Given the description of an element on the screen output the (x, y) to click on. 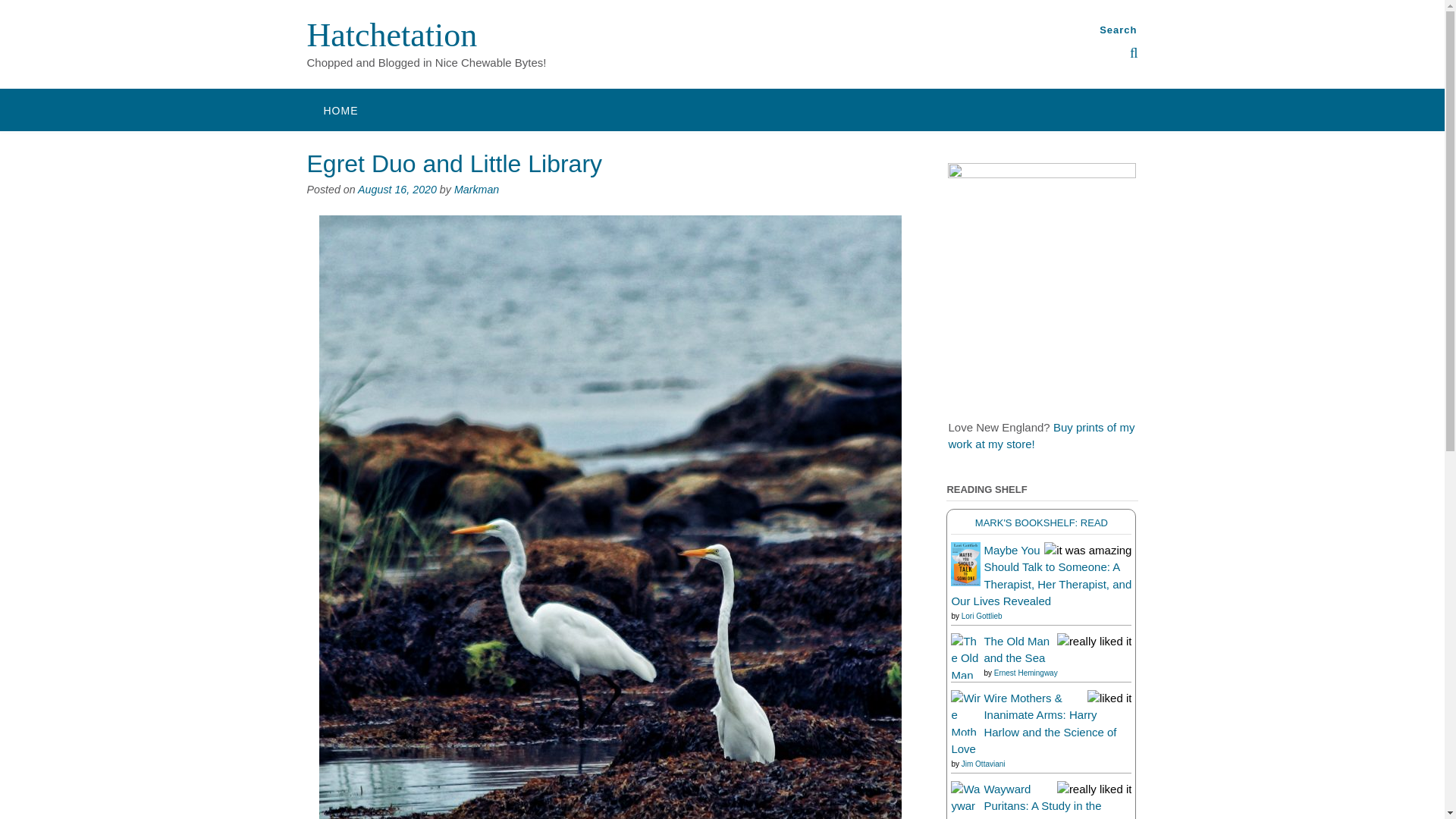
Wayward Puritans: A Study in the Sociology of Deviance (1042, 800)
The Old Man and the Sea (1016, 648)
MARK'S BOOKSHELF: READ (1041, 522)
really liked it (1094, 788)
liked it (1109, 697)
The Old Man and the Sea (964, 725)
Ernest Hemingway (1026, 673)
Lori Gottlieb (981, 614)
August 16, 2020 (397, 189)
